Given the description of an element on the screen output the (x, y) to click on. 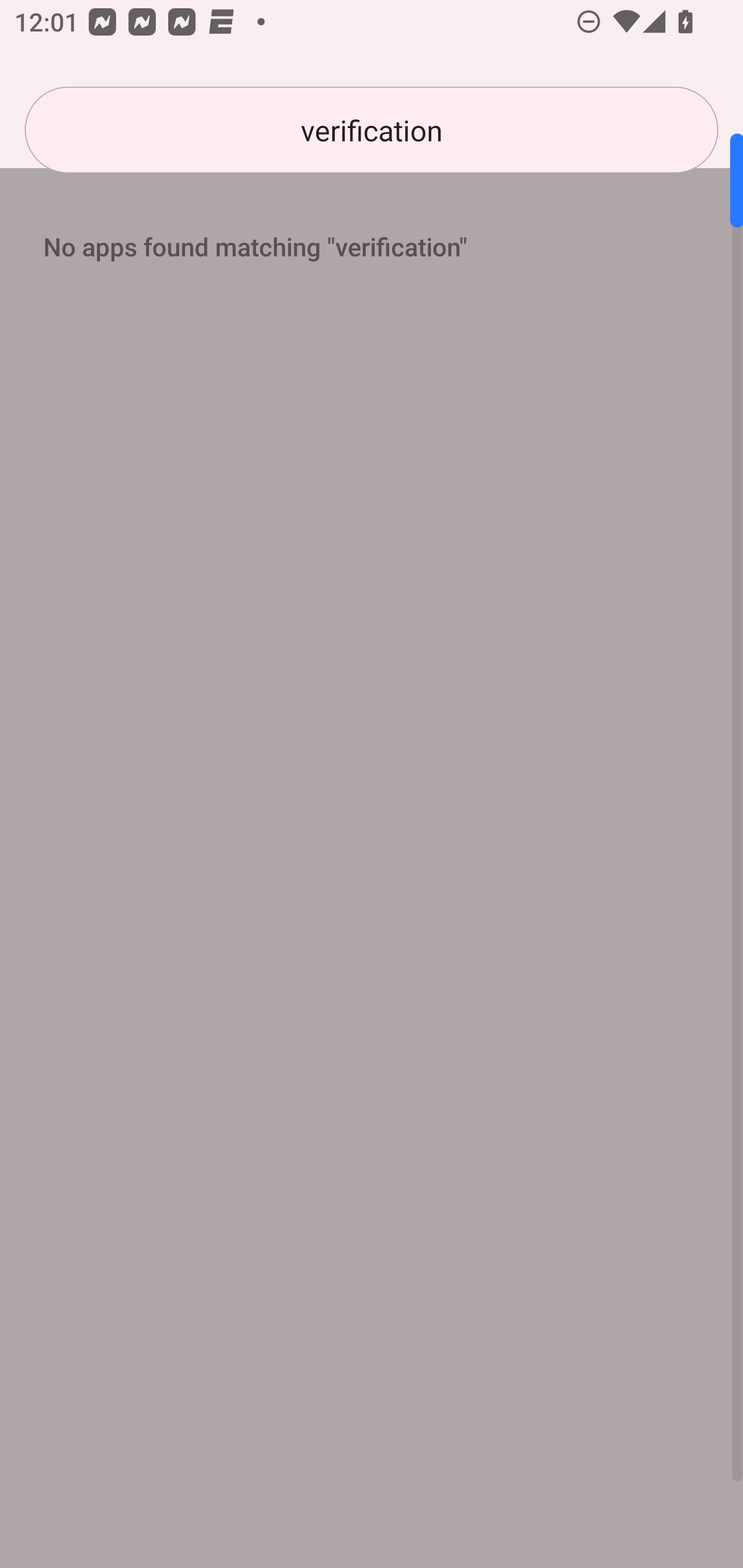
verification (371, 130)
